Given the description of an element on the screen output the (x, y) to click on. 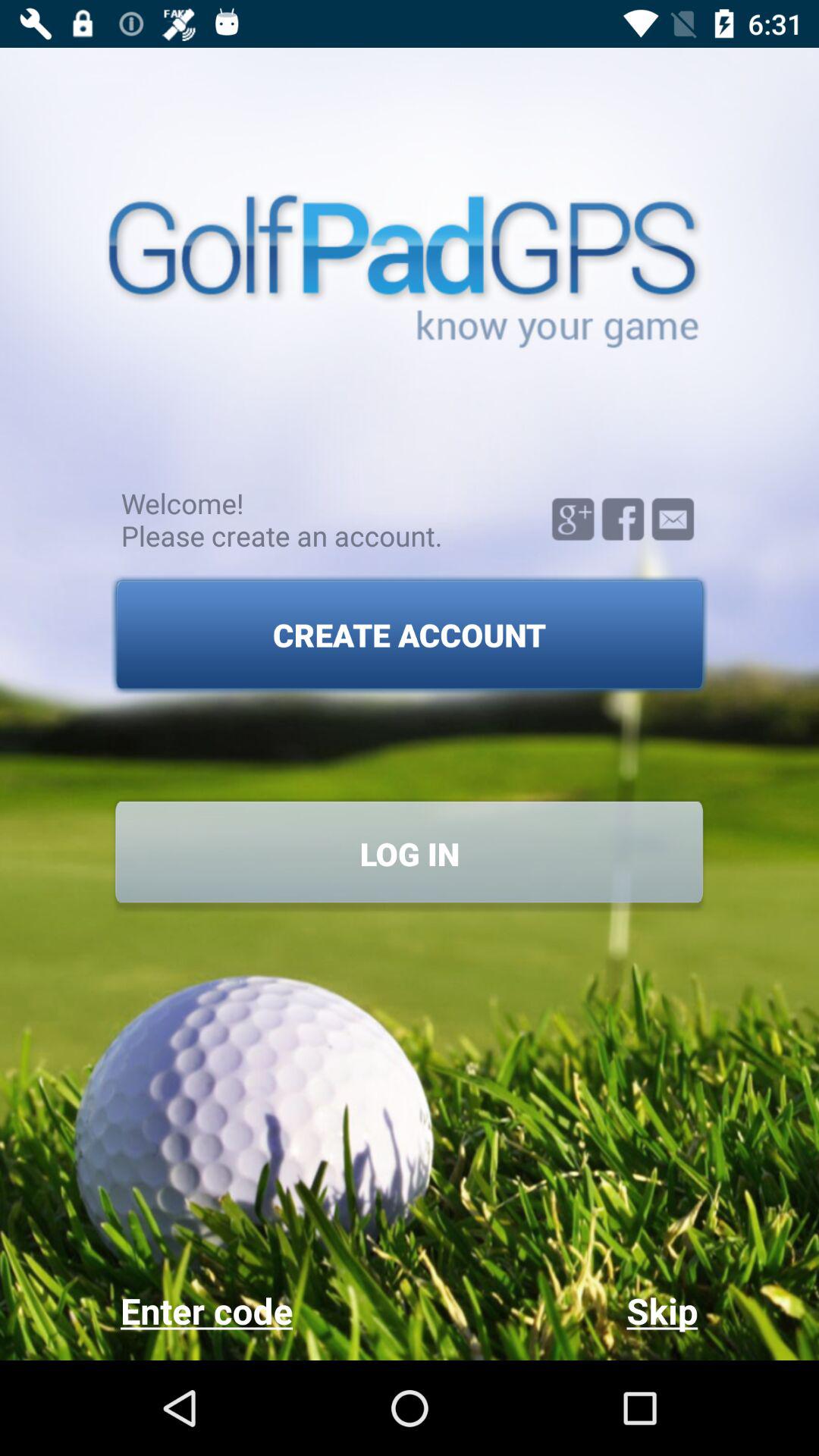
open the skip at the bottom right corner (552, 1310)
